Given the description of an element on the screen output the (x, y) to click on. 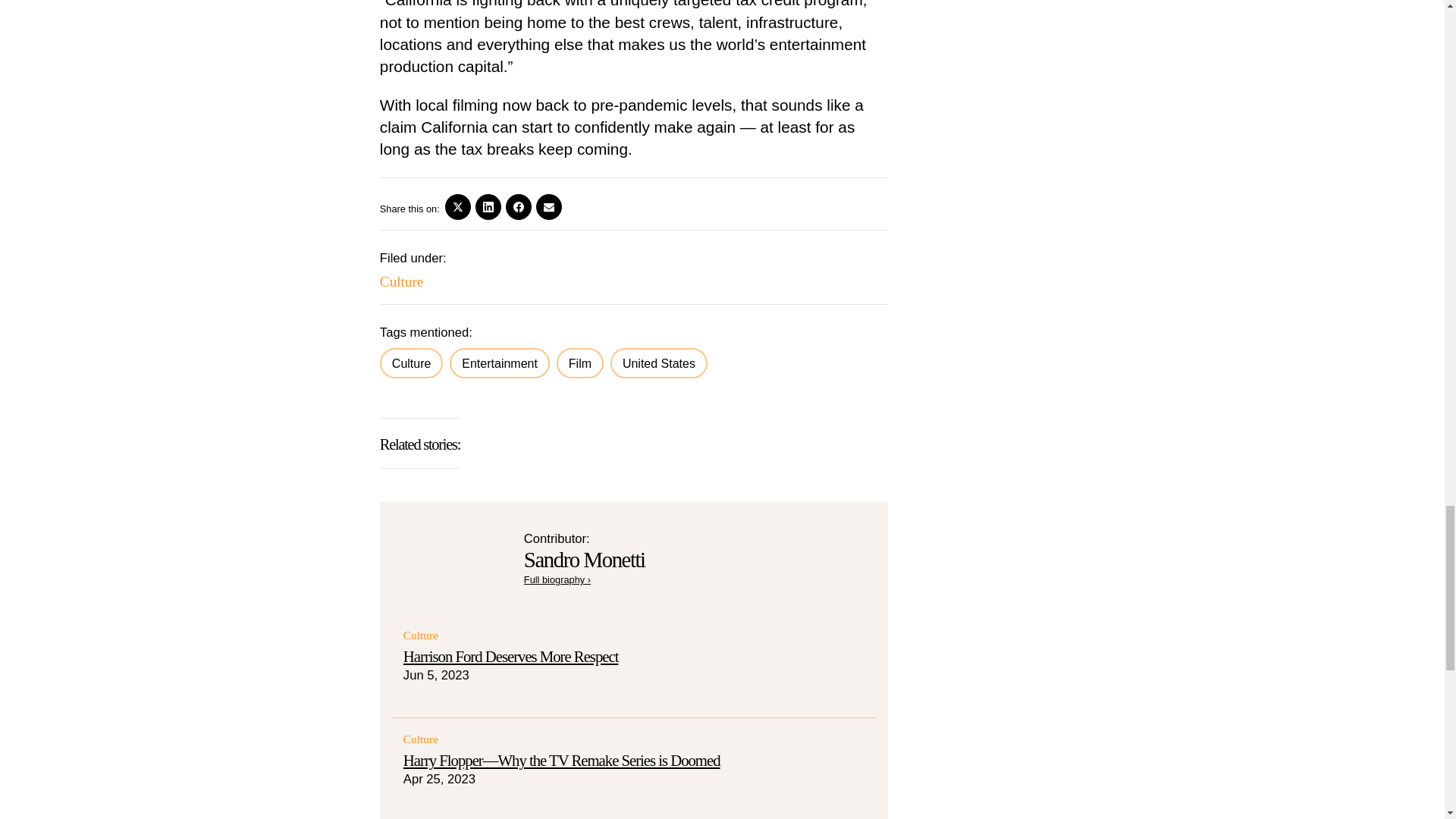
Sandro Monetti (557, 579)
Posts by Sandro Monetti (584, 559)
